Given the description of an element on the screen output the (x, y) to click on. 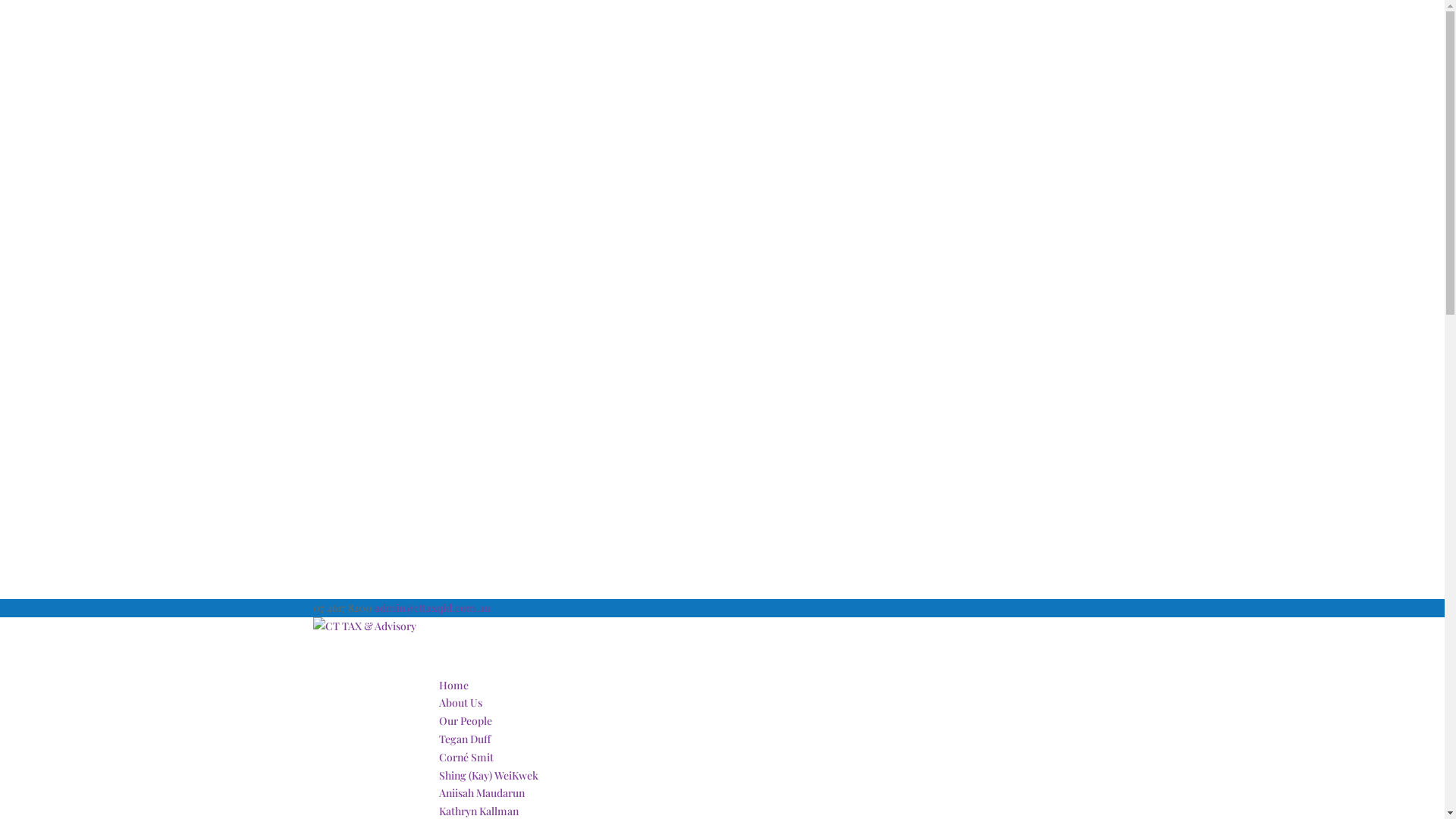
Our People Element type: text (464, 740)
Aniisah Maudarun Element type: text (481, 792)
About Us Element type: text (459, 722)
Shing (Kay) WeiKwek Element type: text (487, 775)
admin@cttaxqld.com.au Element type: text (432, 607)
Kathryn Kallman Element type: text (477, 810)
Tegan Duff Element type: text (463, 738)
Home Element type: text (452, 705)
